Given the description of an element on the screen output the (x, y) to click on. 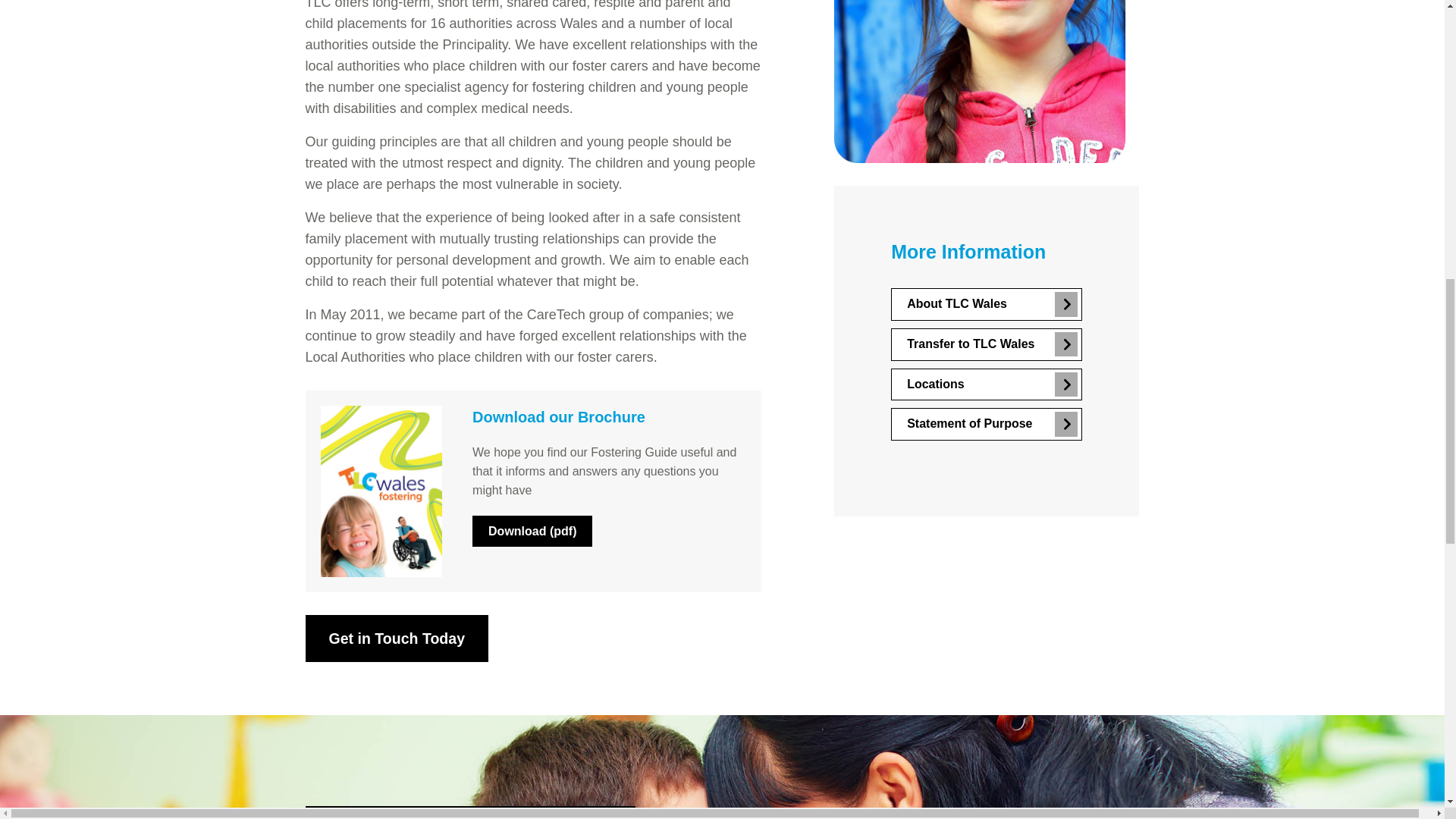
About TLC Wales (986, 304)
Download (531, 531)
Statement of Purpose (986, 423)
Locations (986, 384)
Get in Touch Today (395, 638)
Transfer to TLC Wales (986, 344)
